Given the description of an element on the screen output the (x, y) to click on. 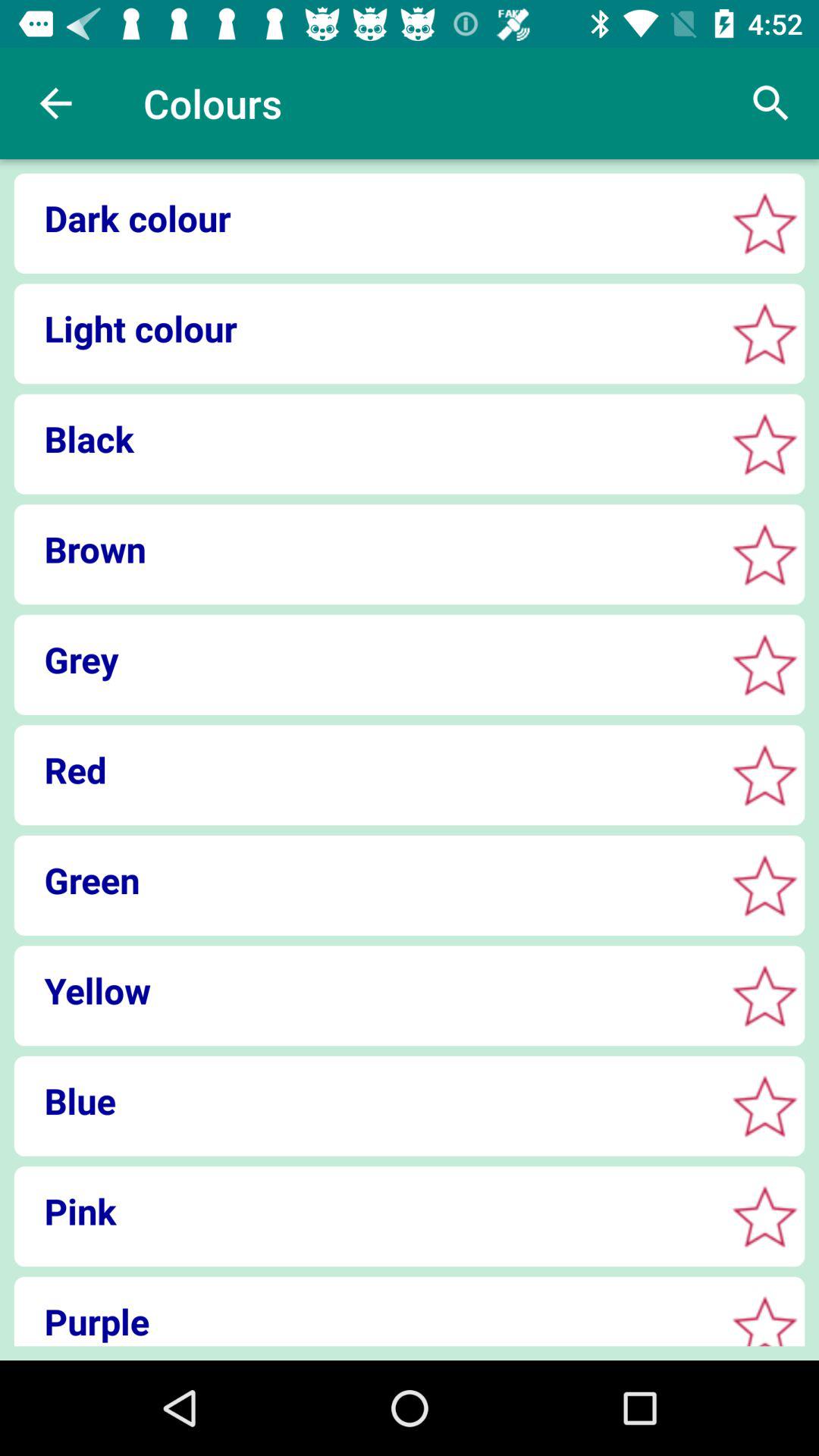
like grey (764, 664)
